Given the description of an element on the screen output the (x, y) to click on. 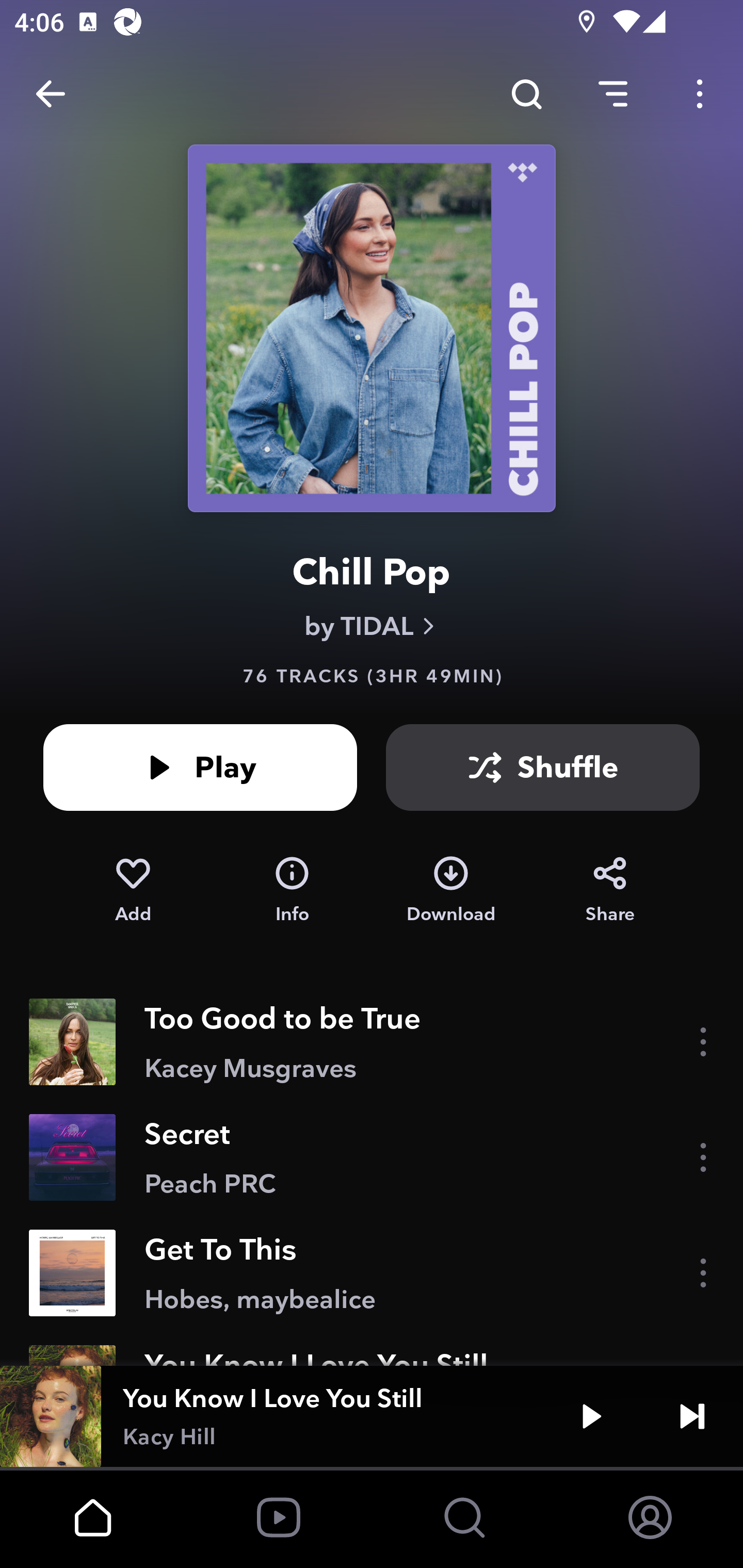
Back (50, 93)
Search (525, 93)
Sorting (612, 93)
Options (699, 93)
by TIDAL (371, 625)
Play (200, 767)
Shuffle (542, 767)
Add (132, 890)
Info (291, 890)
Download (450, 890)
Share (609, 890)
Too Good to be True Kacey Musgraves (371, 1041)
Secret Peach PRC (371, 1157)
Get To This Hobes, maybealice (371, 1273)
You Know I Love You Still Kacy Hill Play (371, 1416)
Play (590, 1416)
